Given the description of an element on the screen output the (x, y) to click on. 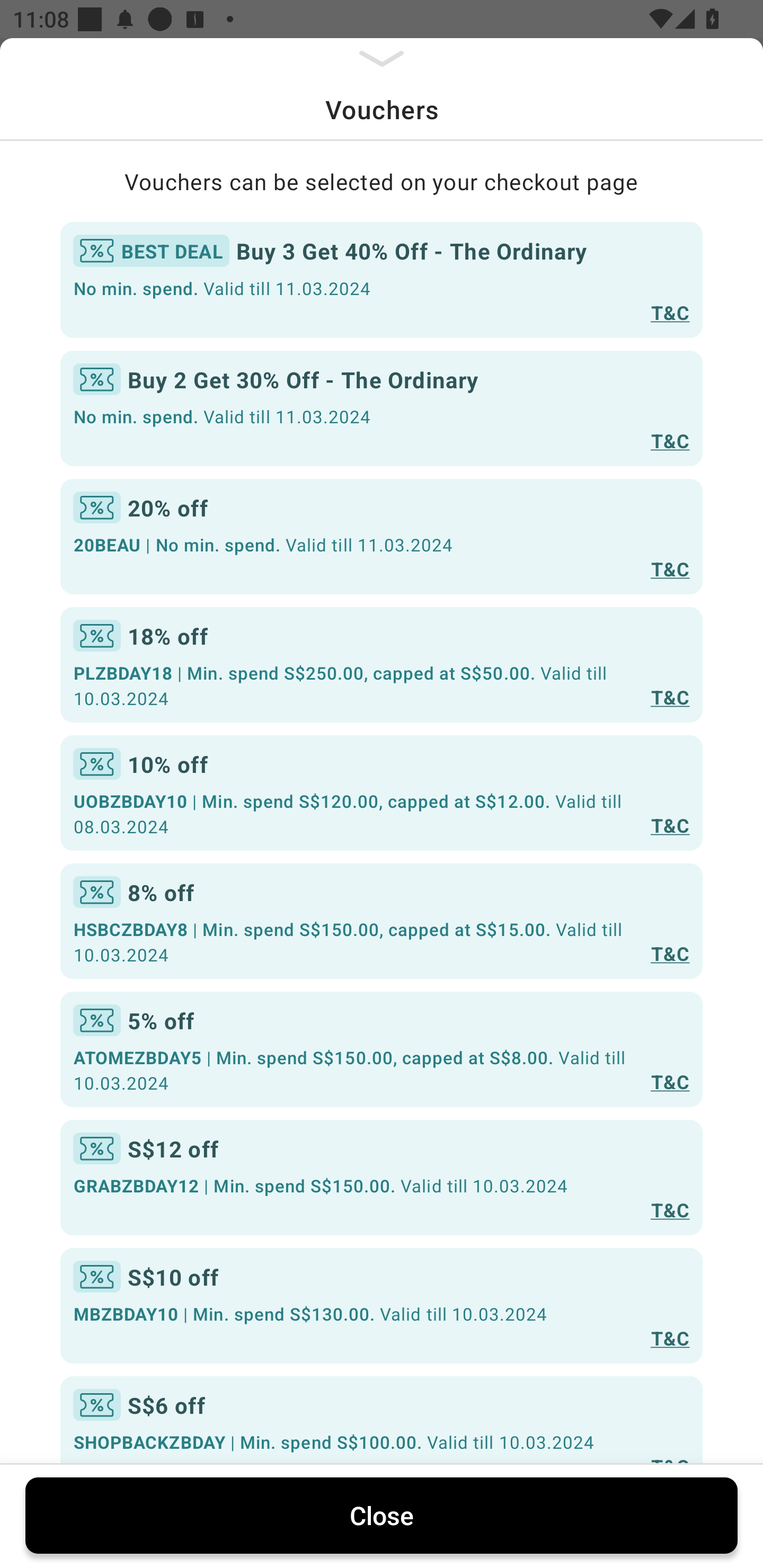
T&C (669, 311)
T&C (669, 440)
T&C (669, 568)
T&C (669, 696)
T&C (669, 824)
T&C (669, 952)
T&C (669, 1080)
T&C (669, 1209)
T&C (669, 1337)
Close (381, 1515)
